Given the description of an element on the screen output the (x, y) to click on. 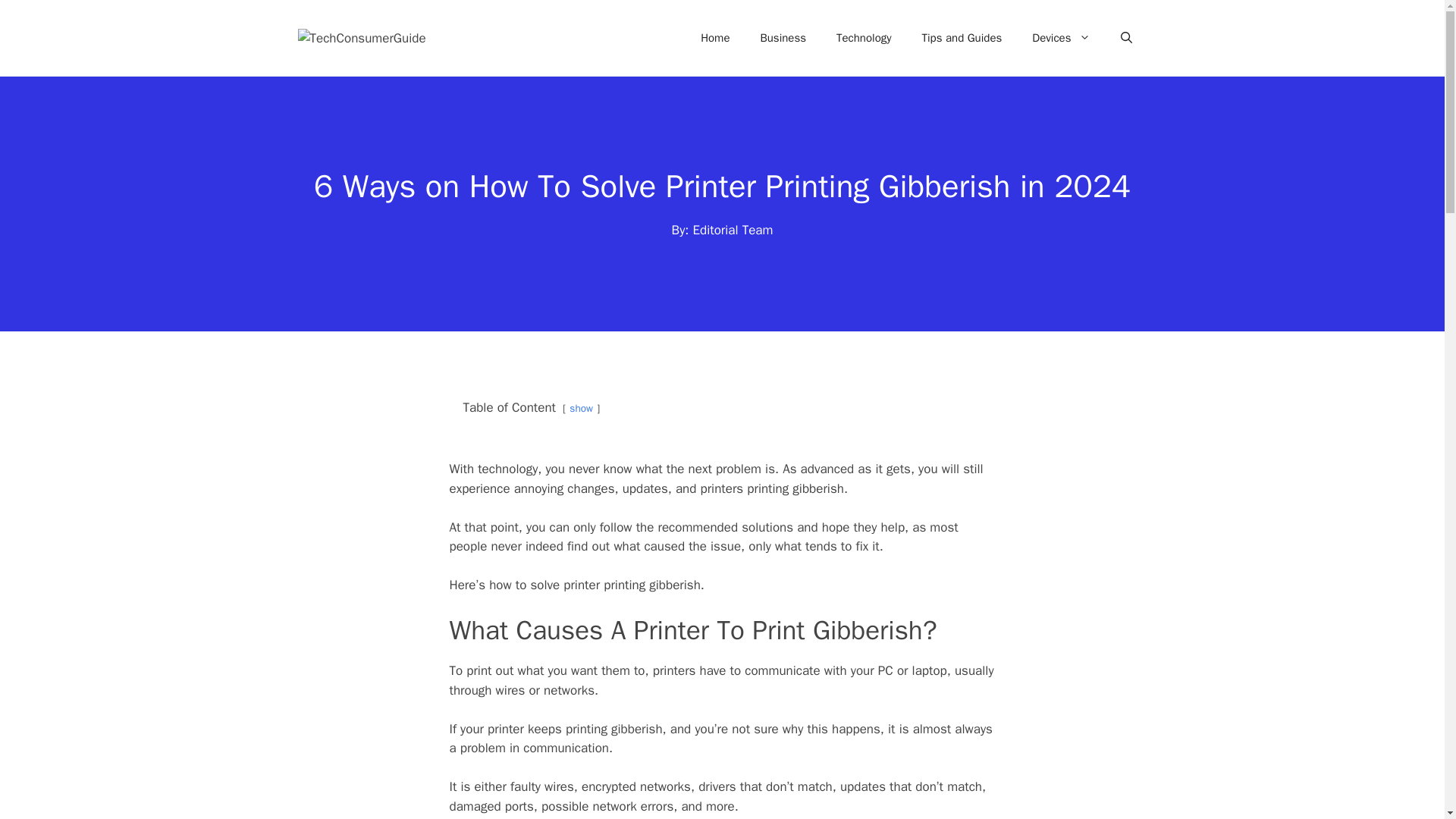
show (580, 408)
Business (782, 37)
Tips and Guides (962, 37)
Devices (1060, 37)
Home (714, 37)
Technology (864, 37)
